Given the description of an element on the screen output the (x, y) to click on. 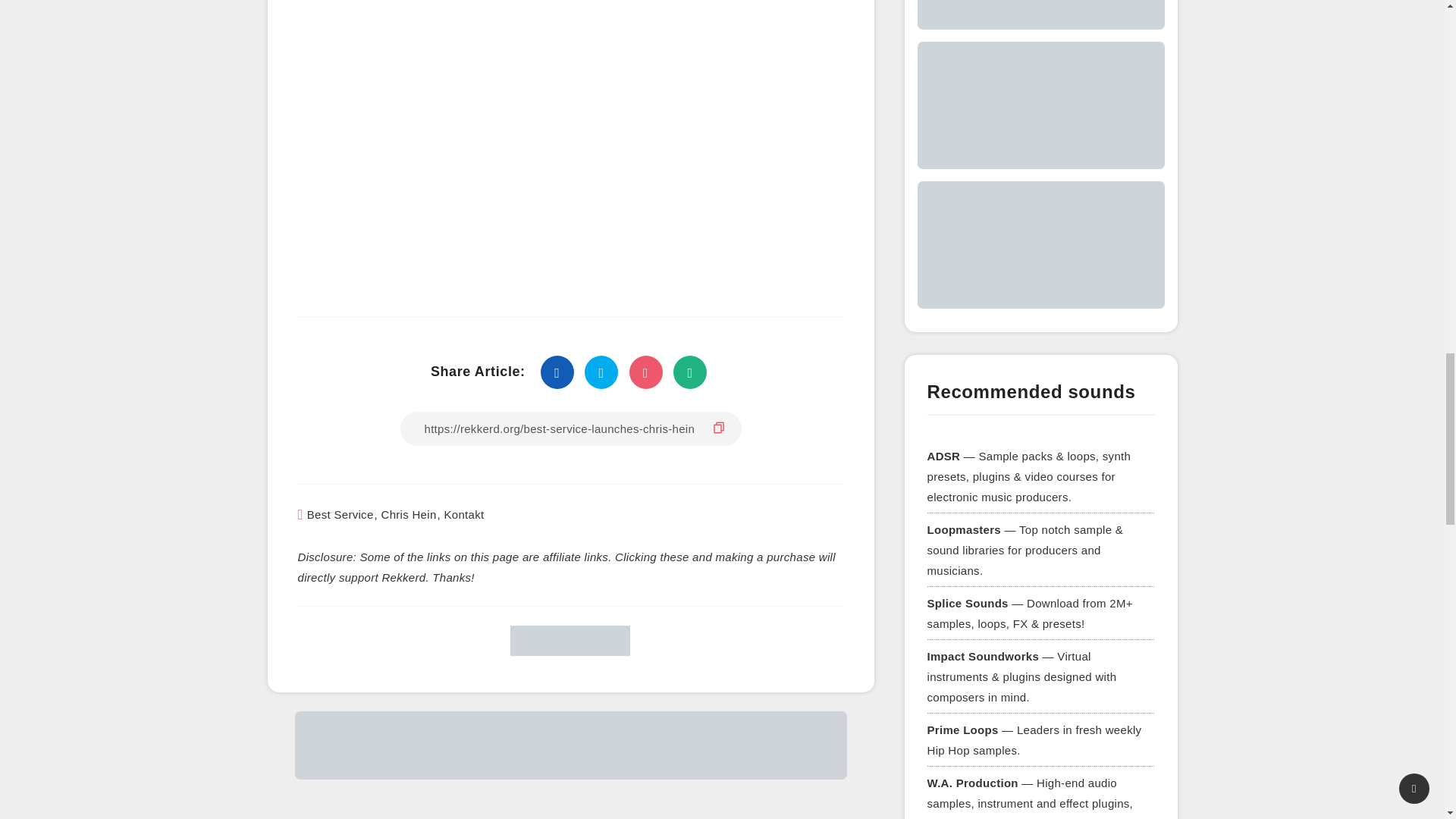
Best Service (340, 513)
Kontakt (463, 513)
Chris Hein (407, 513)
